Given the description of an element on the screen output the (x, y) to click on. 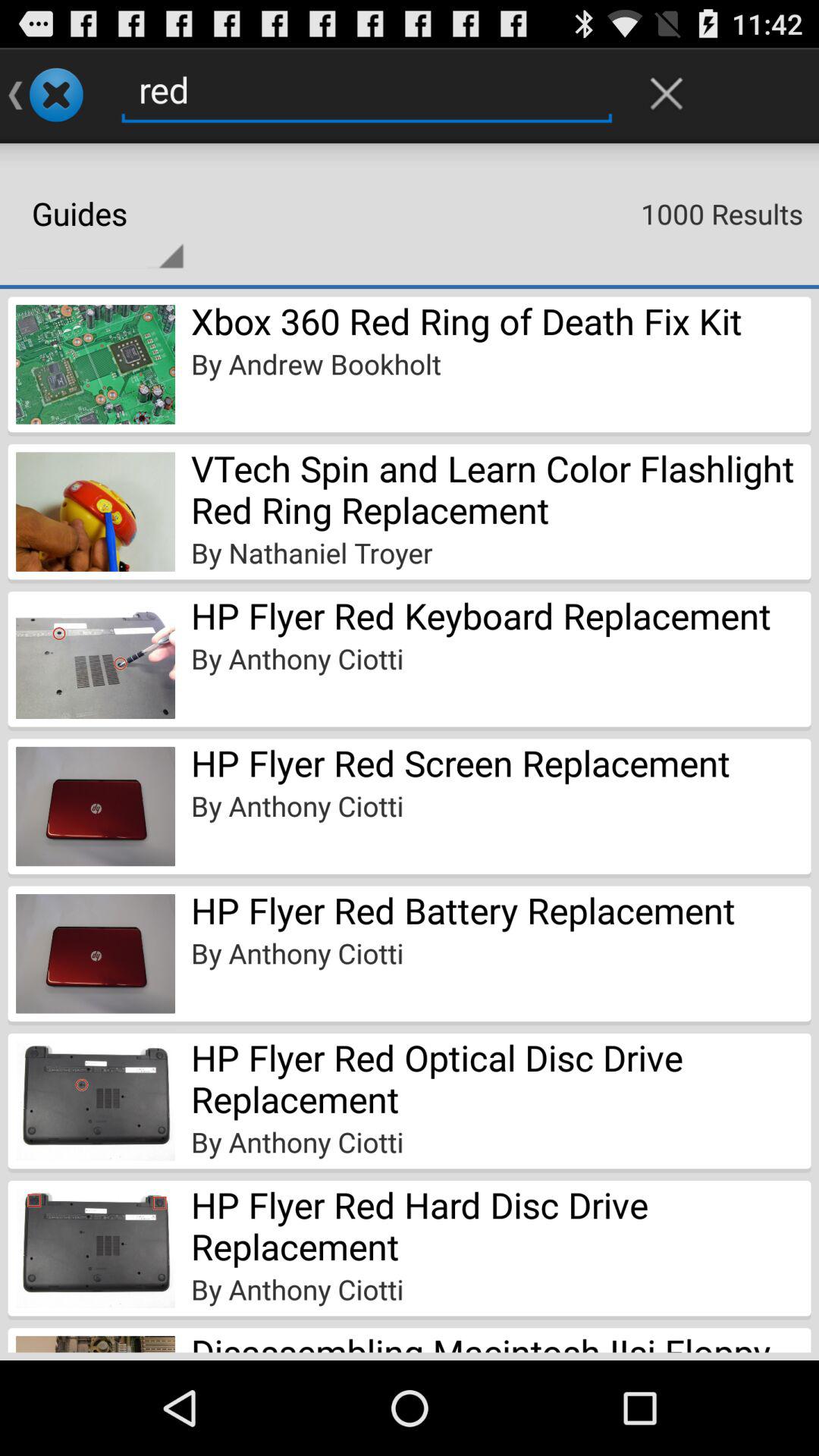
swipe to the vtech spin and icon (501, 489)
